Given the description of an element on the screen output the (x, y) to click on. 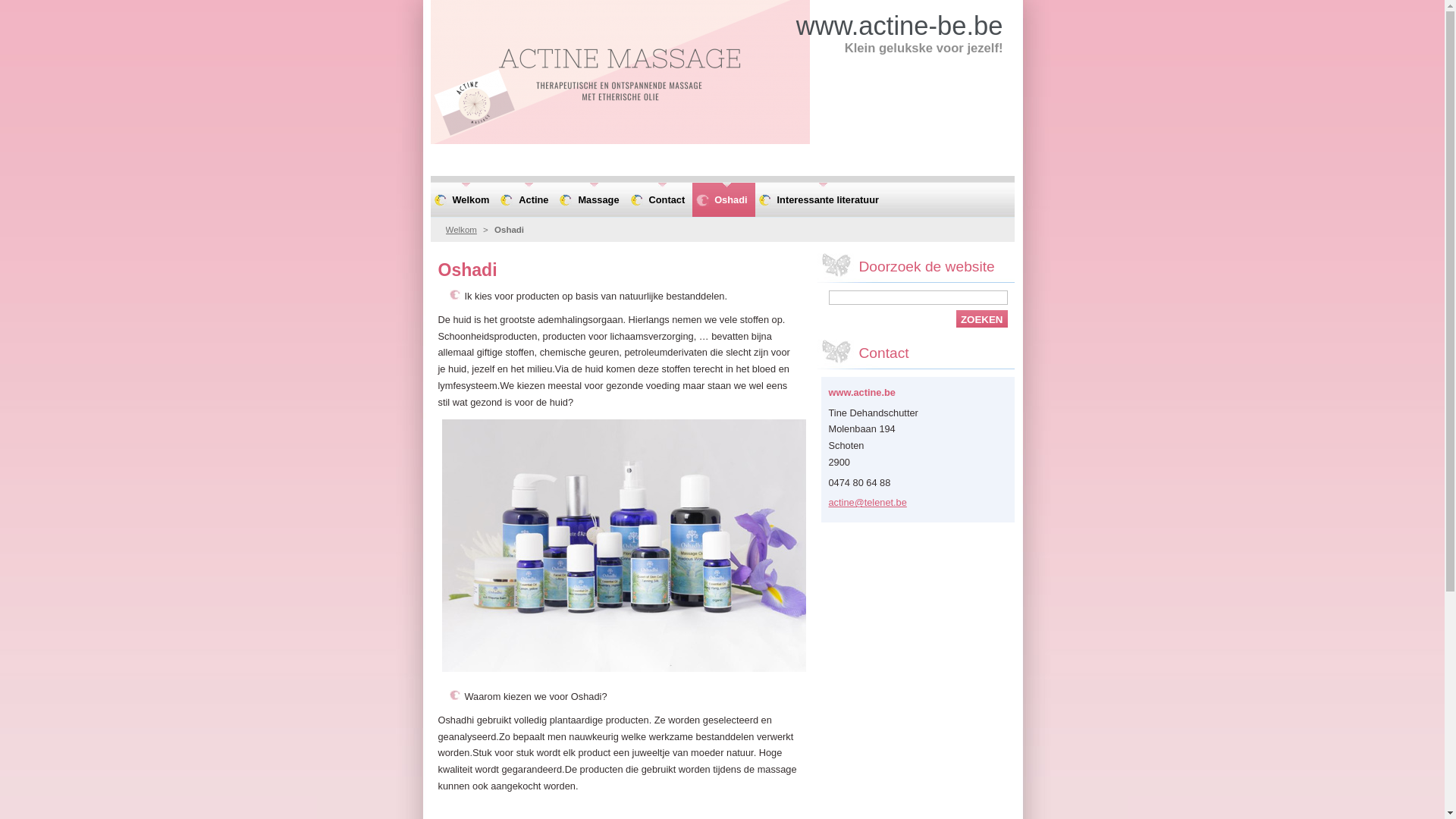
Massage Element type: text (590, 199)
www.actine-be.be Element type: text (899, 25)
Welkom Element type: text (460, 229)
Actine Element type: text (525, 199)
Welkom Element type: text (463, 199)
Interessante literatuur Element type: text (820, 199)
Oshadi Element type: text (723, 199)
Contact Element type: text (660, 199)
actine@telenet.be Element type: text (867, 502)
Zoeken Element type: text (981, 318)
